Given the description of an element on the screen output the (x, y) to click on. 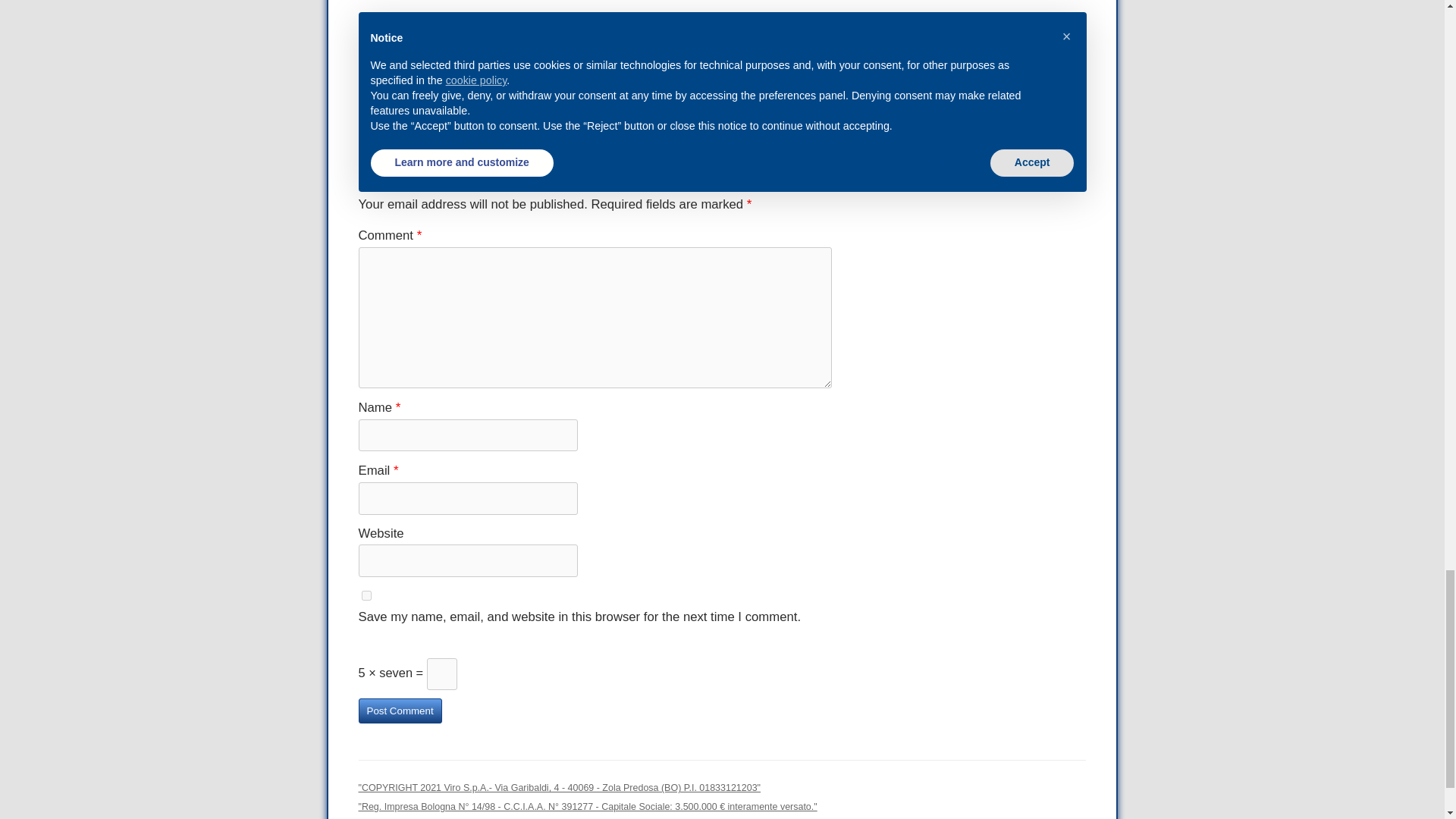
Post Comment (399, 710)
yes (366, 595)
Post Comment (399, 710)
